Given the description of an element on the screen output the (x, y) to click on. 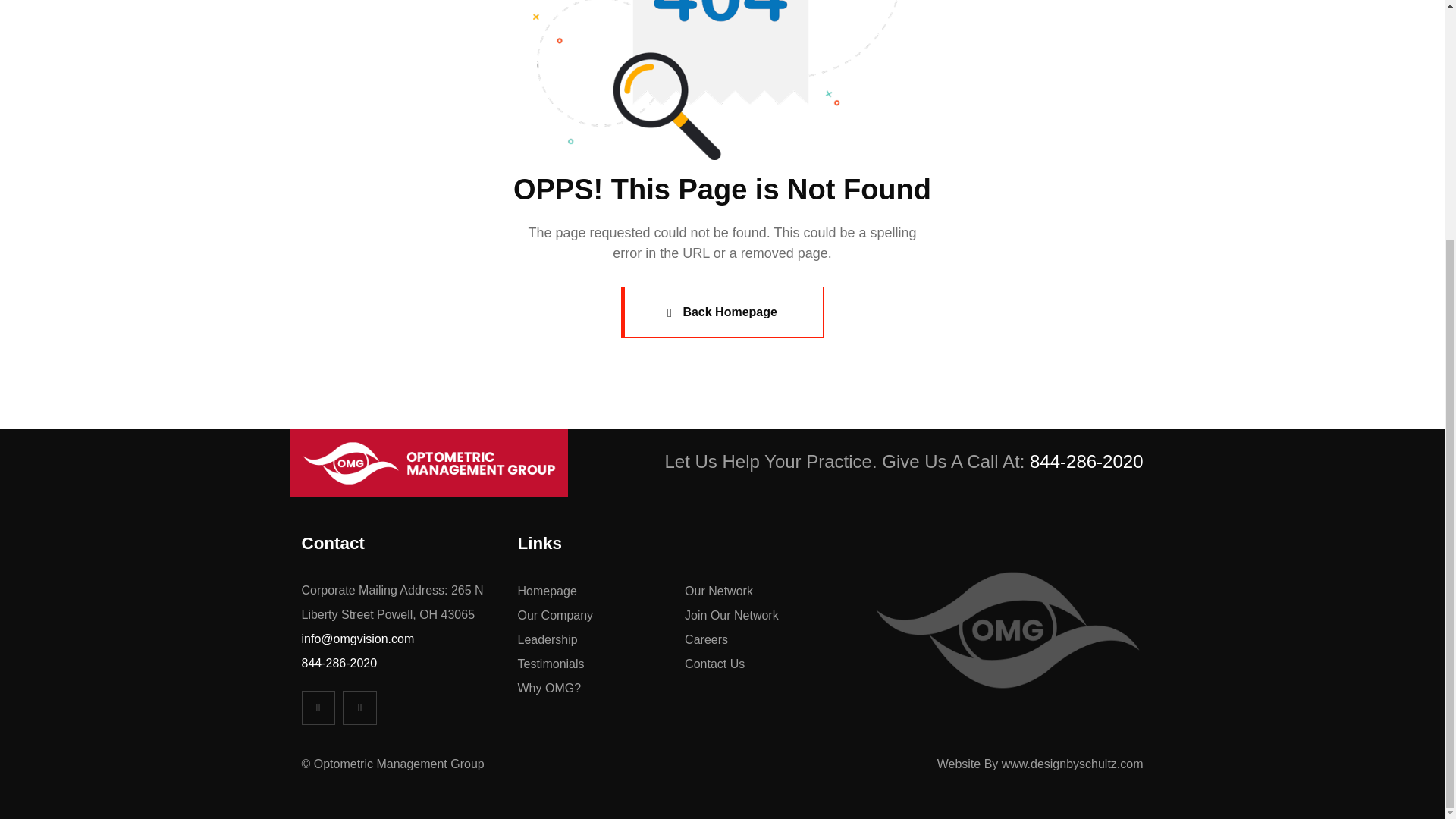
Back Homepage (722, 312)
Our Company (600, 615)
Homepage (600, 591)
844-286-2020 (339, 662)
Leadership (600, 639)
Home (428, 463)
